Given the description of an element on the screen output the (x, y) to click on. 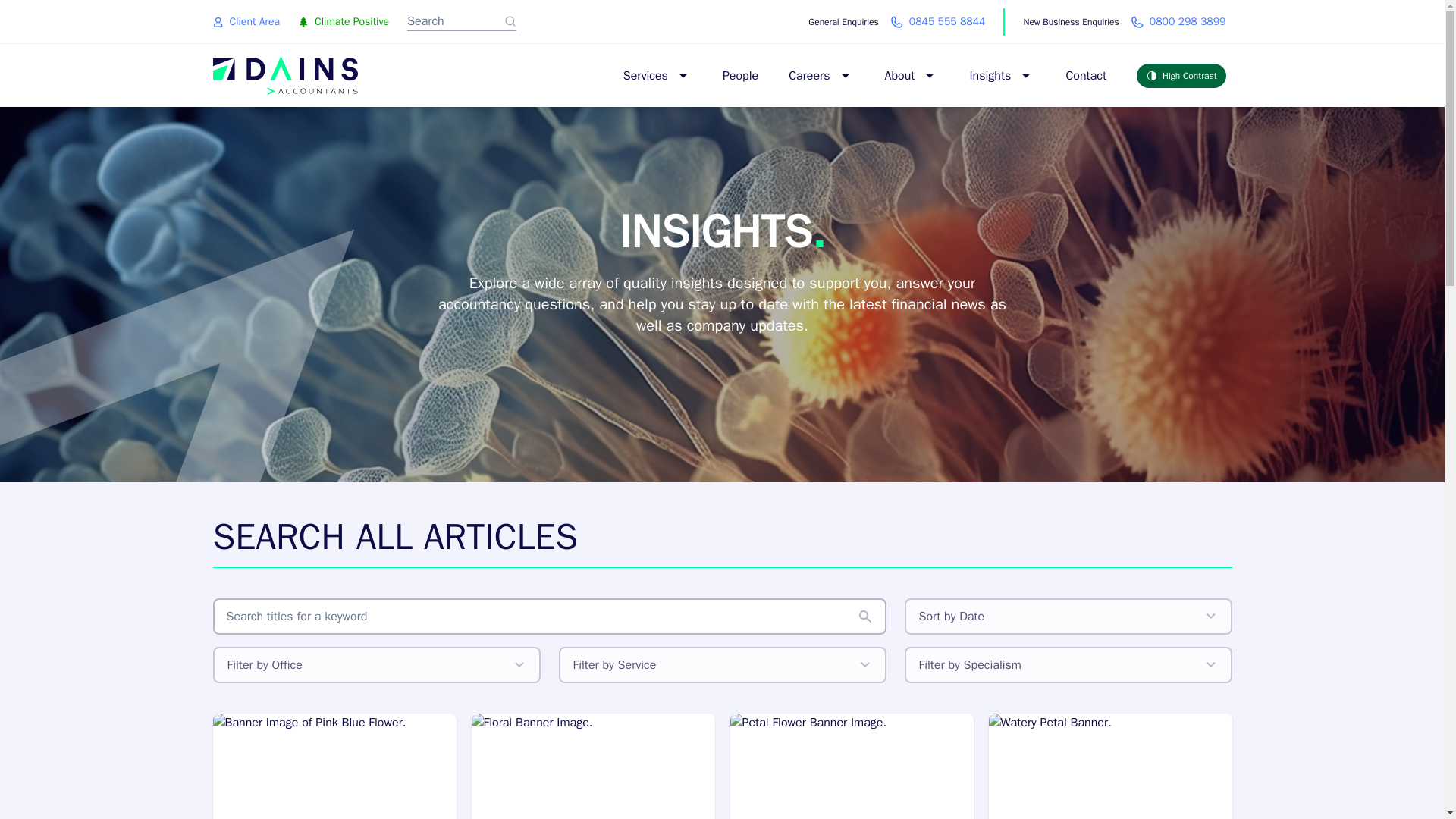
Open Services Menu (1123, 21)
Open About Menu (683, 75)
Open Careers Menu (929, 75)
Dains (844, 75)
Careers (896, 21)
People (284, 75)
About (809, 75)
Climate Positive (740, 75)
